Given the description of an element on the screen output the (x, y) to click on. 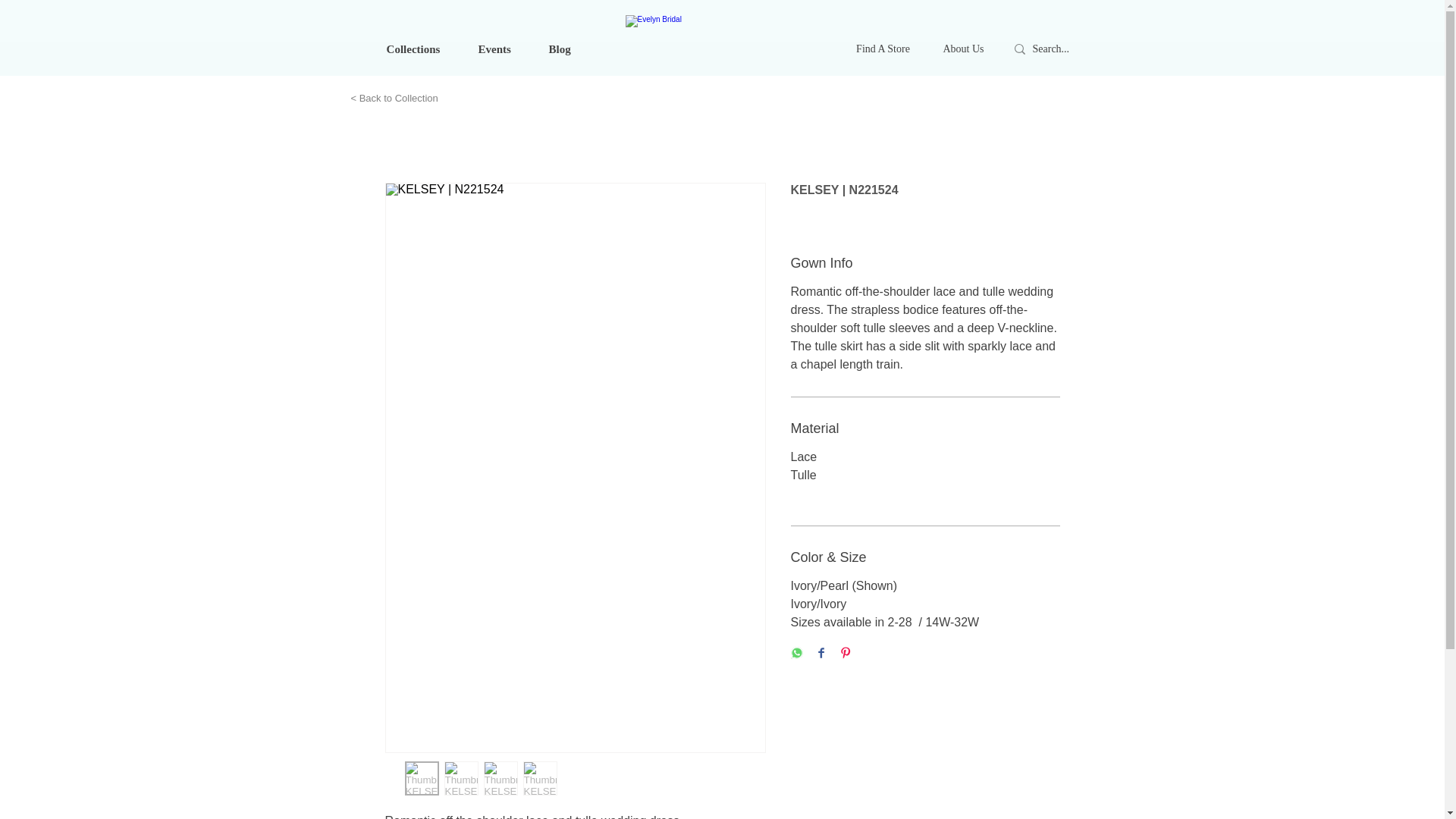
Events (494, 48)
Collections (412, 48)
Blog (559, 48)
Find A Store (883, 49)
About Us (963, 49)
